Given the description of an element on the screen output the (x, y) to click on. 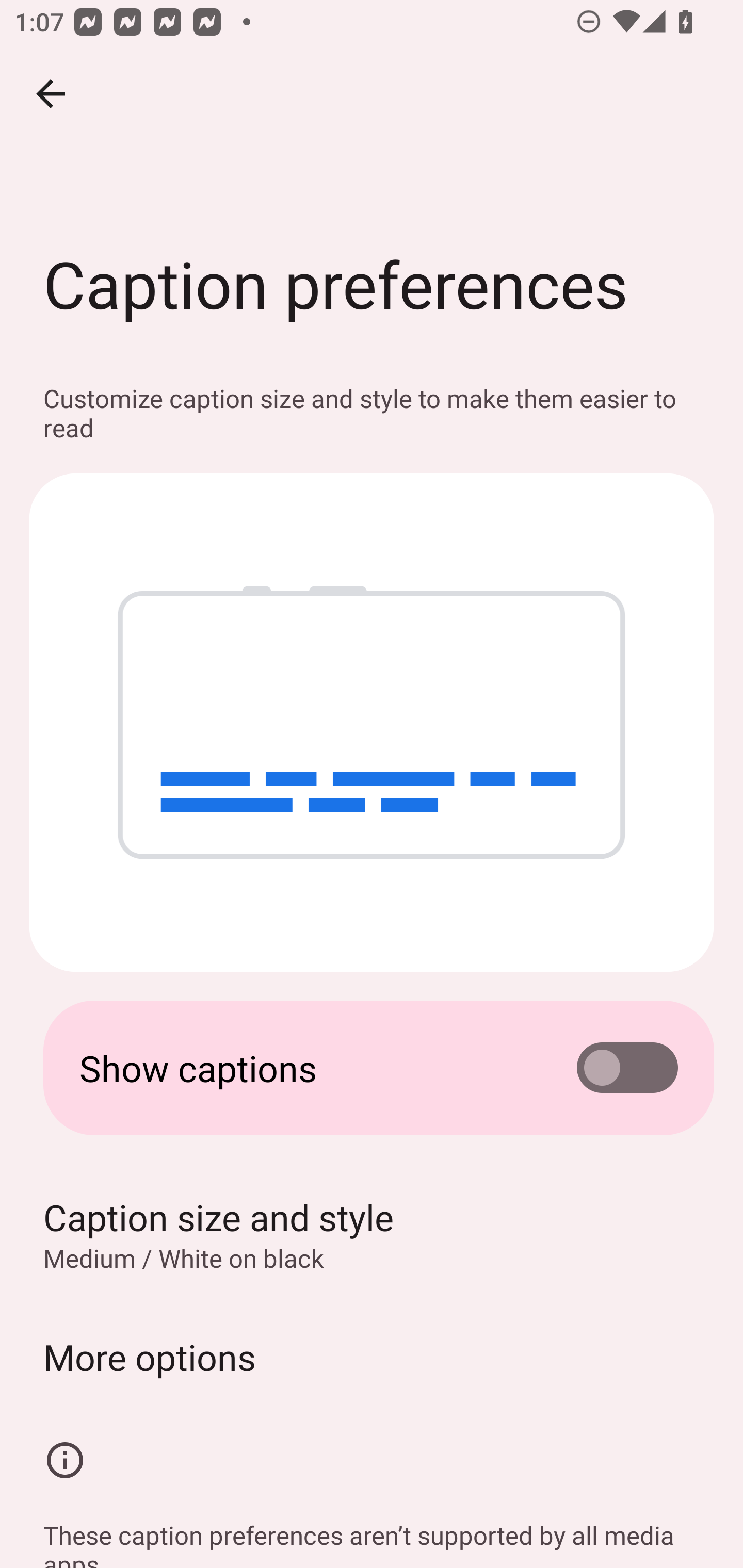
Navigate up (50, 93)
Show captions (371, 1067)
Caption size and style Medium / White on black (371, 1233)
More options (371, 1356)
